Given the description of an element on the screen output the (x, y) to click on. 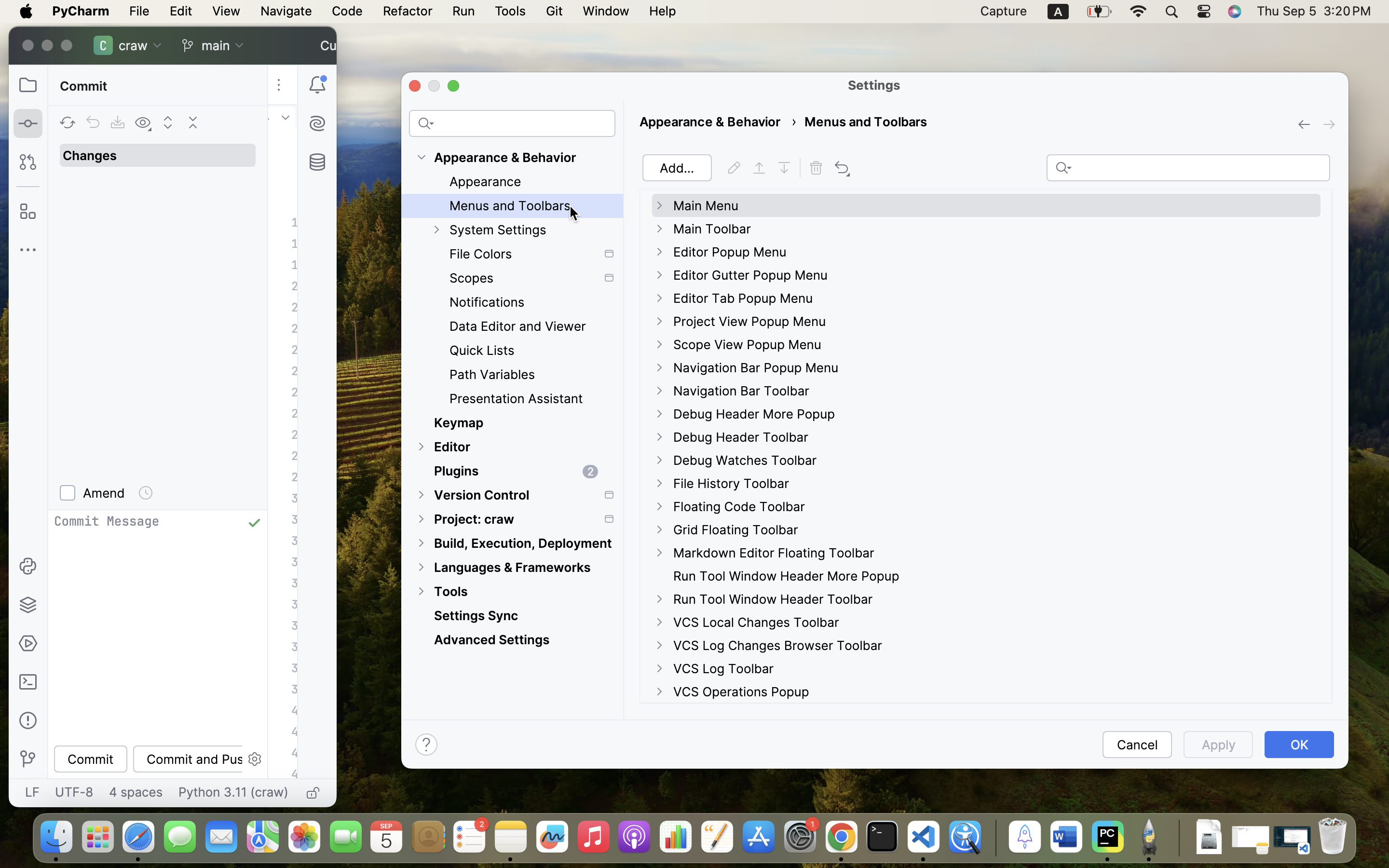
Settings Element type: AXStaticText (873, 84)
0 Element type: AXStaticText (786, 575)
0 Element type: AXOutline (512, 432)
0.4285714328289032 Element type: AXDockItem (993, 837)
